Given the description of an element on the screen output the (x, y) to click on. 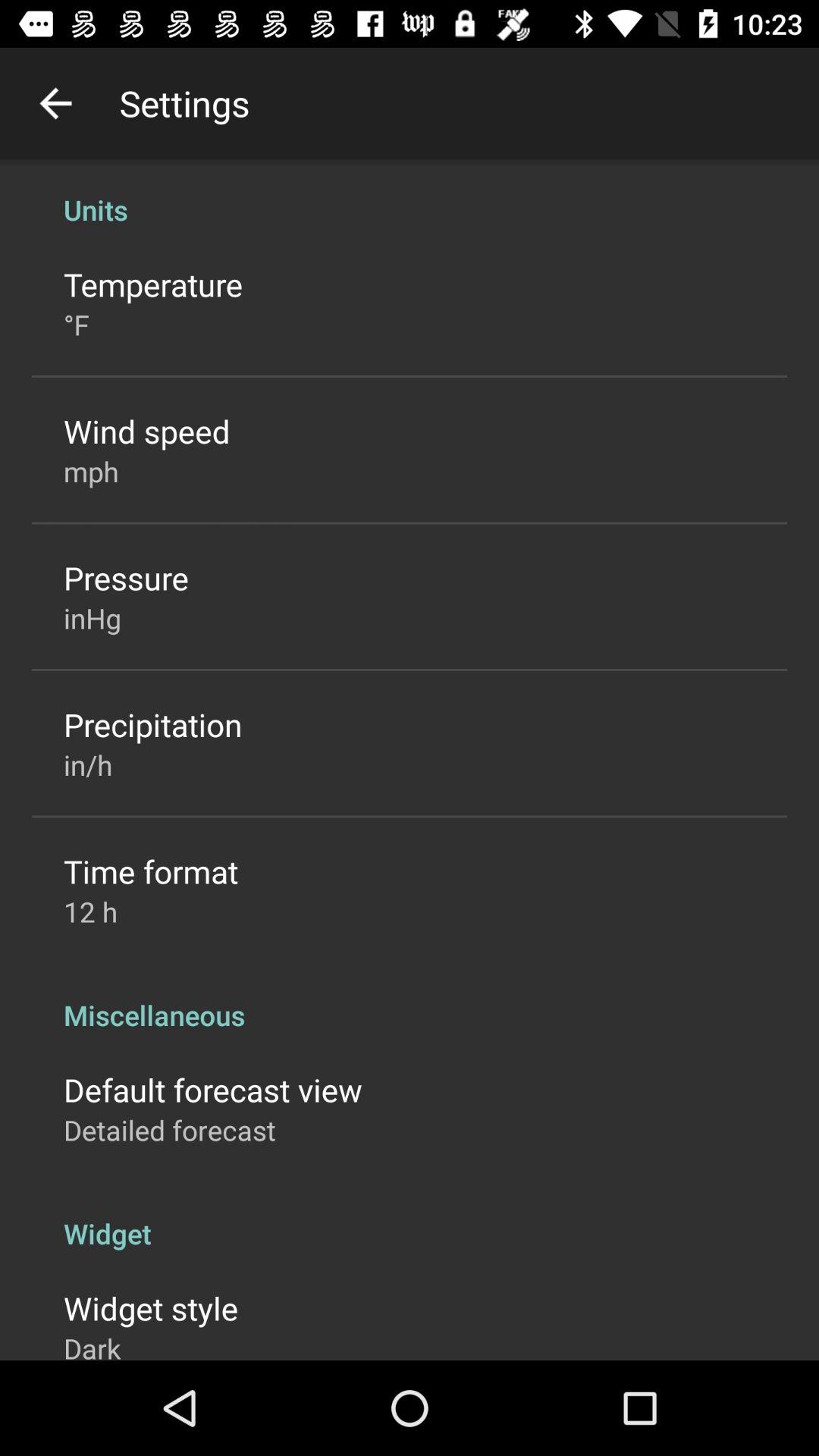
press the units icon (409, 193)
